Given the description of an element on the screen output the (x, y) to click on. 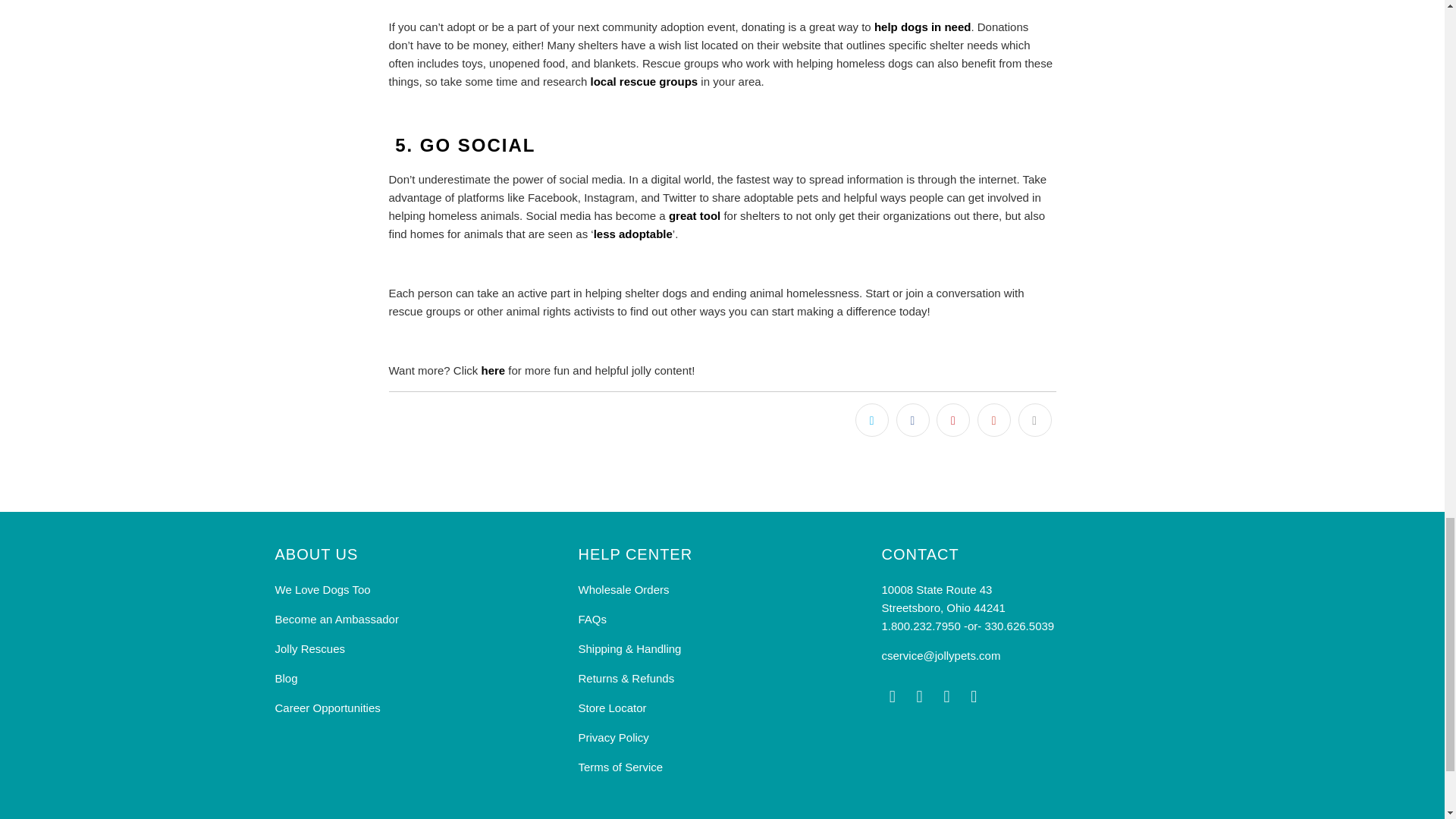
Petfinder (643, 81)
10 Ways To Help Out Your Local Animal Shelter (923, 26)
Less Adoptable Dogs Need Homes Too (633, 233)
Social Media An Important Tool For Shelters ASPCA (694, 215)
Jolly Pets Blog (492, 369)
